Given the description of an element on the screen output the (x, y) to click on. 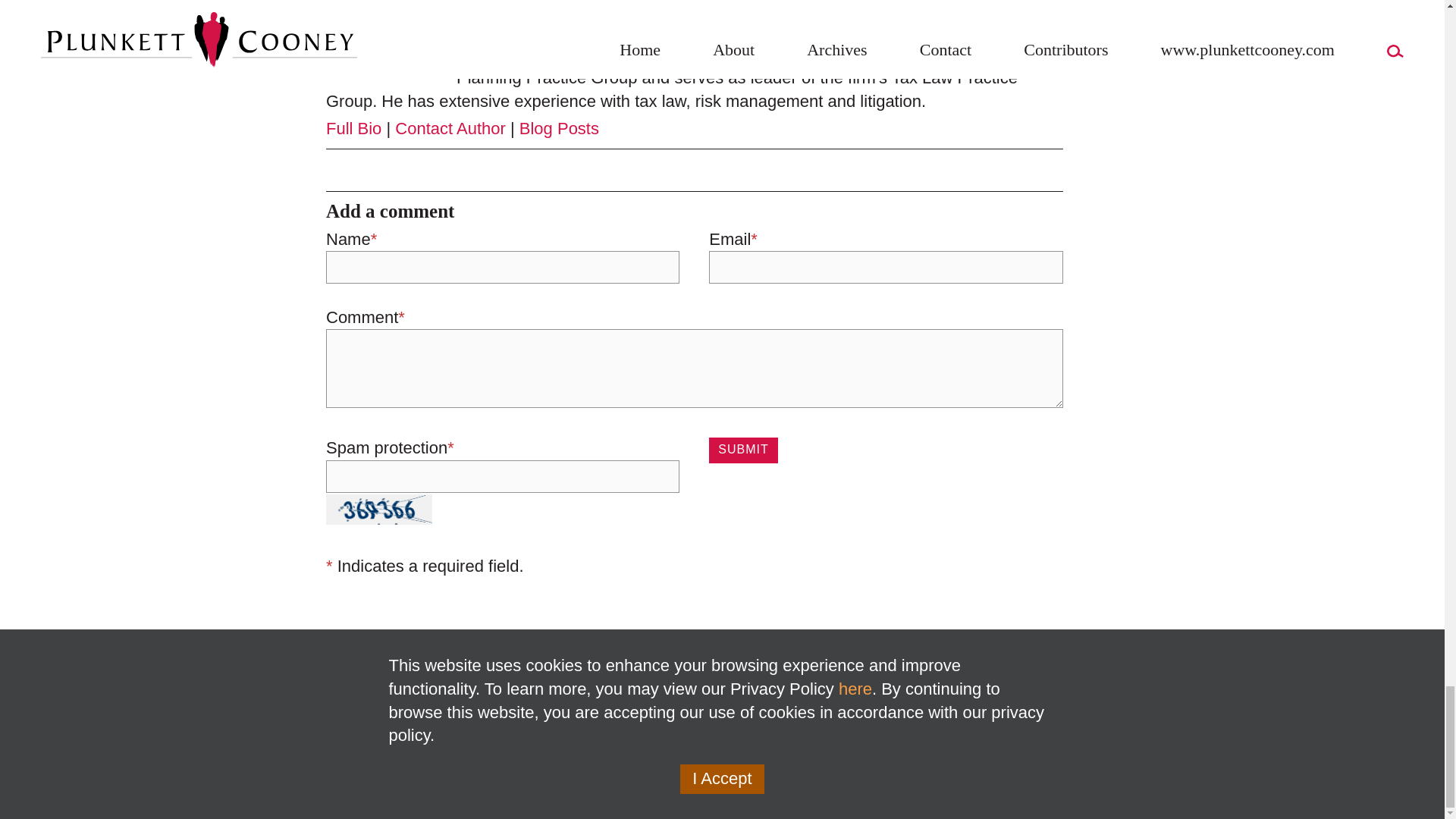
Email (477, 27)
Full Bio (353, 128)
Blog Posts (558, 128)
Submit (743, 450)
Submit (743, 450)
Contact Author (449, 128)
